Given the description of an element on the screen output the (x, y) to click on. 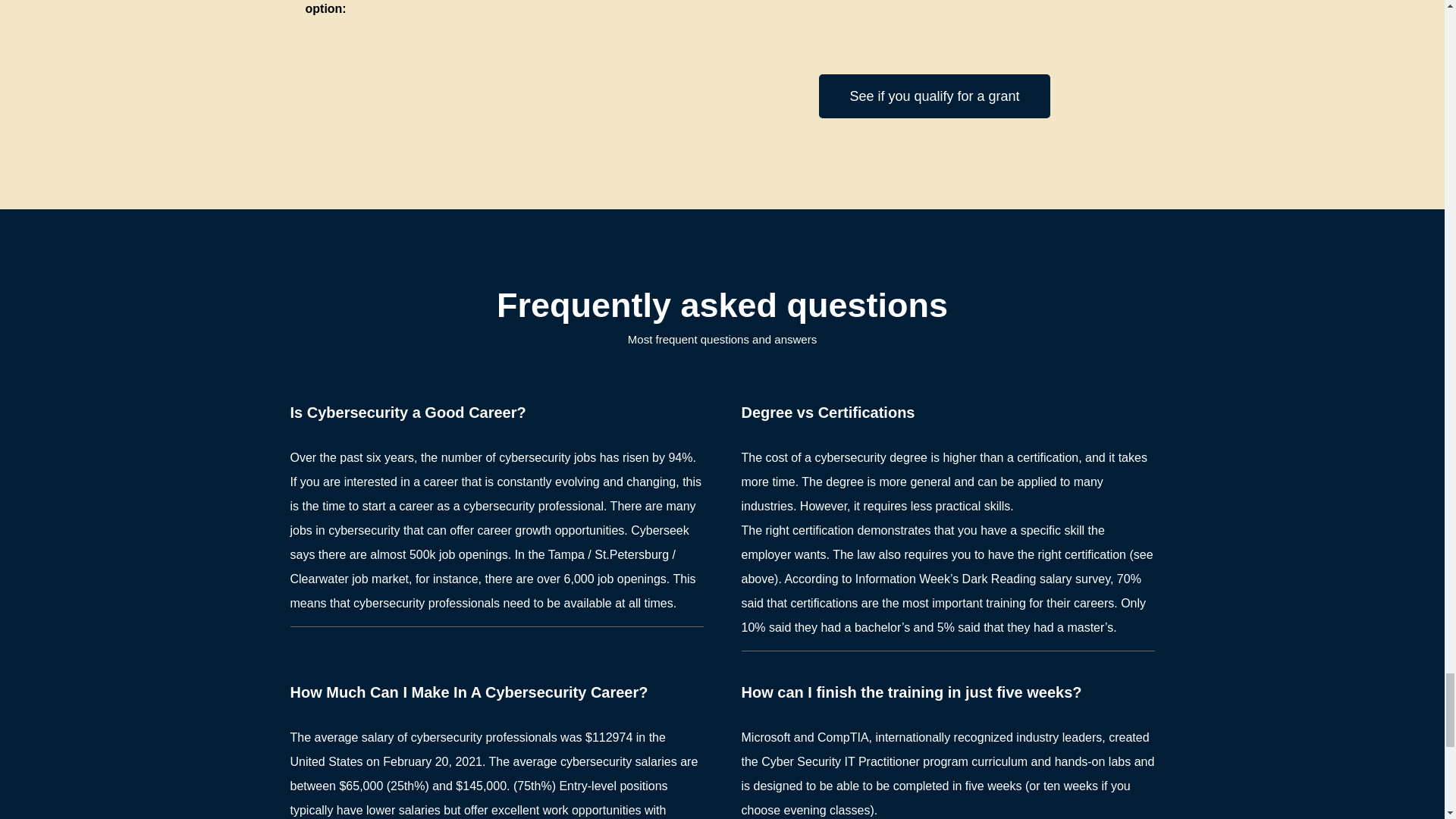
See if you qualify for a grant (933, 95)
